Given the description of an element on the screen output the (x, y) to click on. 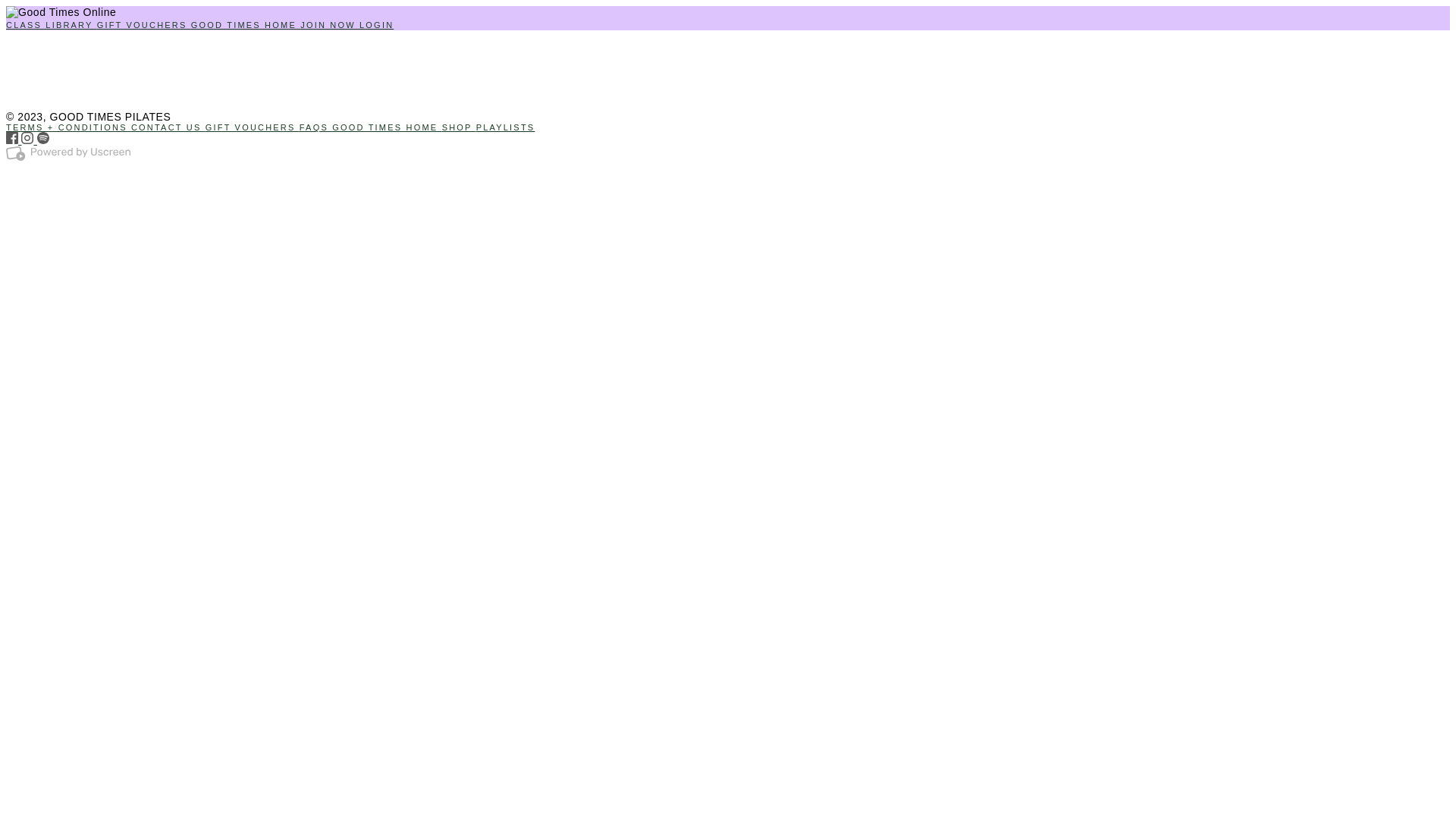
CLASS LIBRARY Element type: text (51, 24)
LOGIN Element type: text (376, 24)
GIFT VOUCHERS Element type: text (144, 24)
PLAYLISTS Element type: text (505, 126)
SHOP Element type: text (459, 126)
CONTACT US Element type: text (168, 126)
FAQS Element type: text (315, 126)
TERMS + CONDITIONS Element type: text (68, 126)
JOIN NOW Element type: text (329, 24)
GIFT VOUCHERS Element type: text (252, 126)
GOOD TIMES HOME Element type: text (386, 126)
GOOD TIMES HOME Element type: text (245, 24)
